Given the description of an element on the screen output the (x, y) to click on. 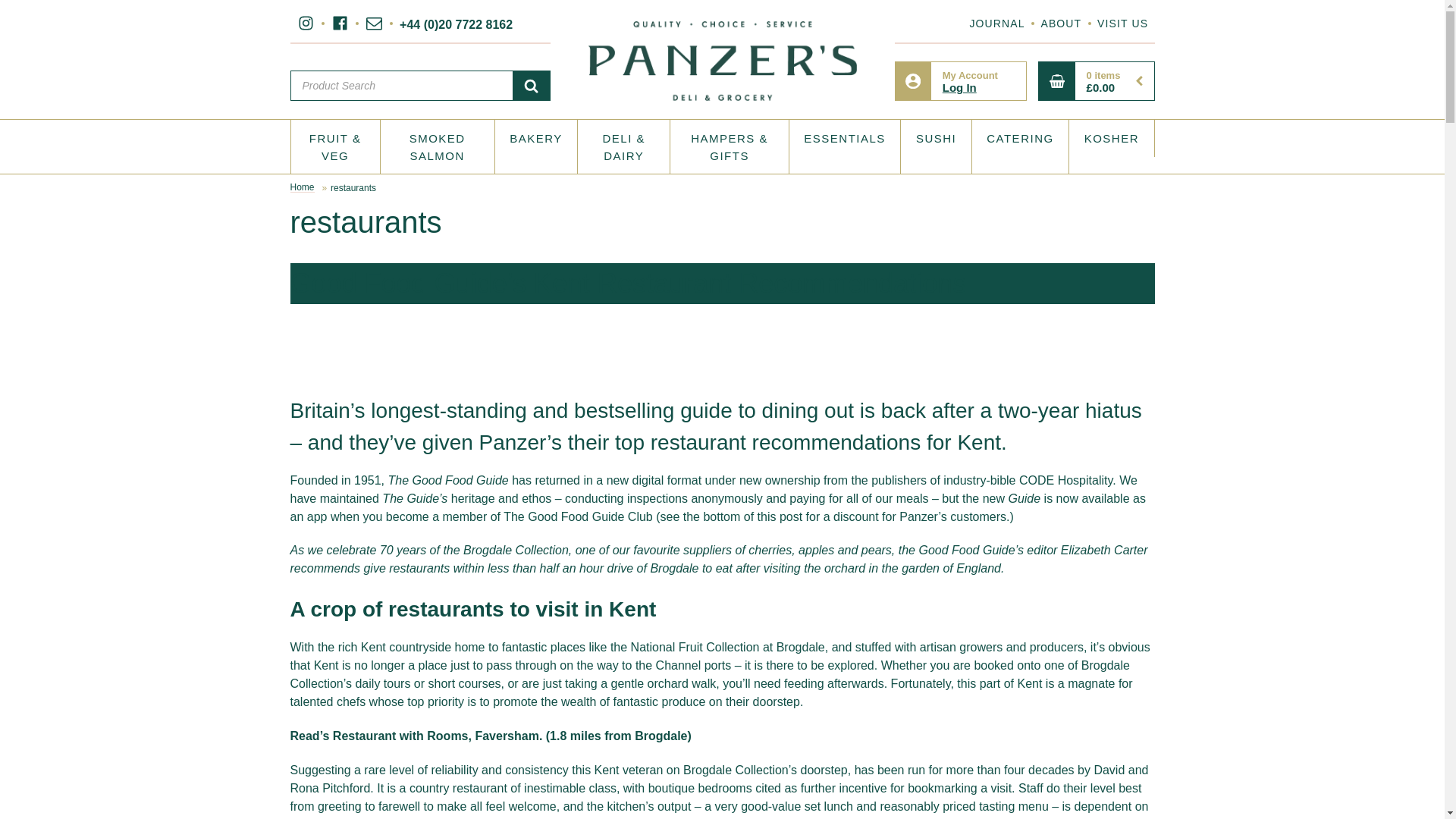
Panzers Home (961, 80)
JOURNAL (722, 60)
Panzers Instagram (996, 23)
Contact Us (304, 22)
VISIT US (373, 22)
Panzers Facebook (1122, 23)
ABOUT (339, 22)
Call us today (1060, 23)
